Given the description of an element on the screen output the (x, y) to click on. 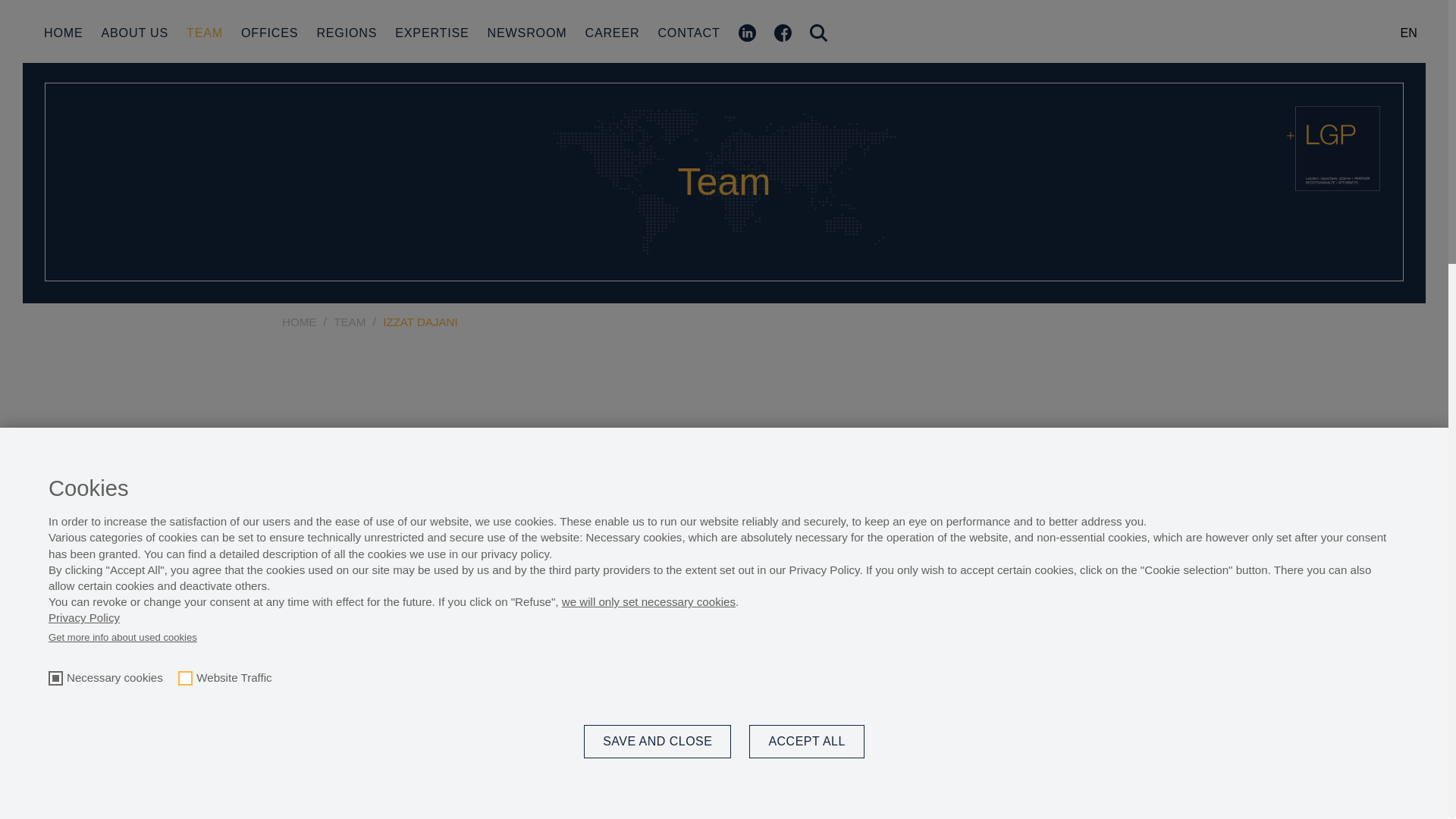
Izzat Dajani (943, 723)
REGIONS (346, 32)
HOME (62, 32)
OFFICES (269, 32)
ABOUT US (134, 32)
TEAM (204, 32)
EXPERTISE (431, 32)
